Given the description of an element on the screen output the (x, y) to click on. 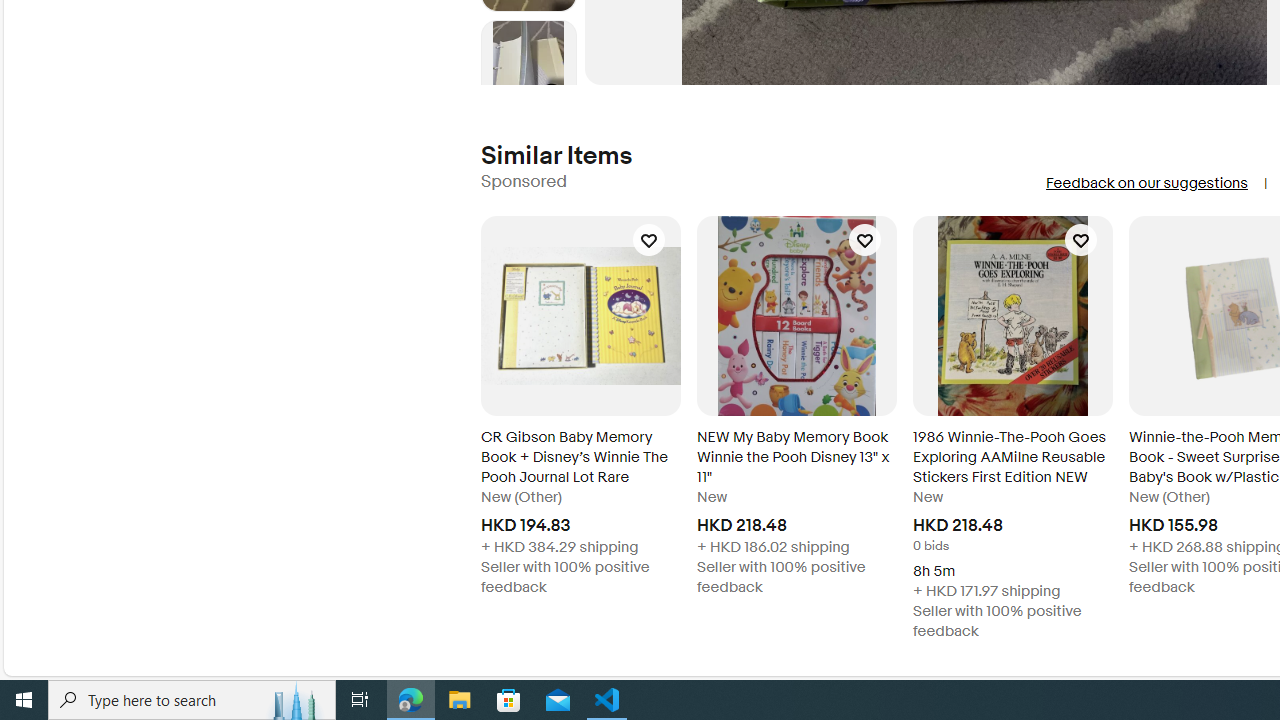
Feedback on our suggestions (1146, 183)
Picture 6 of 22 (528, 67)
Next image - Item images thumbnails (528, 80)
Picture 6 of 22 (528, 67)
